Given the description of an element on the screen output the (x, y) to click on. 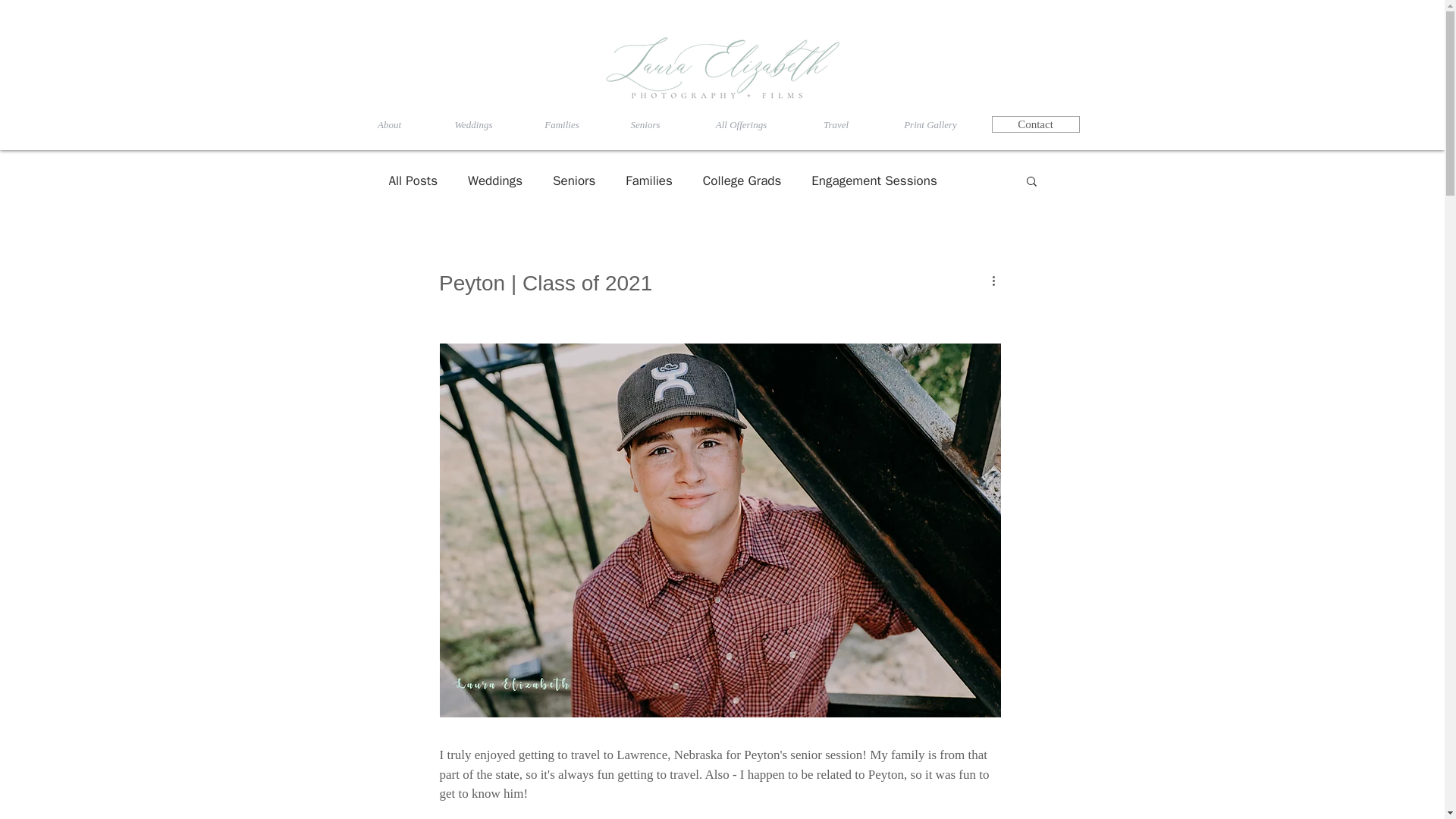
Families (561, 124)
Contact (1035, 124)
Seniors (574, 180)
Engagement Sessions (873, 180)
Travel (835, 124)
All Posts (413, 180)
Seniors (645, 124)
Print Gallery (930, 124)
College Grads (742, 180)
All Offerings (740, 124)
Weddings (494, 180)
Weddings (473, 124)
Families (648, 180)
About (389, 124)
